Given the description of an element on the screen output the (x, y) to click on. 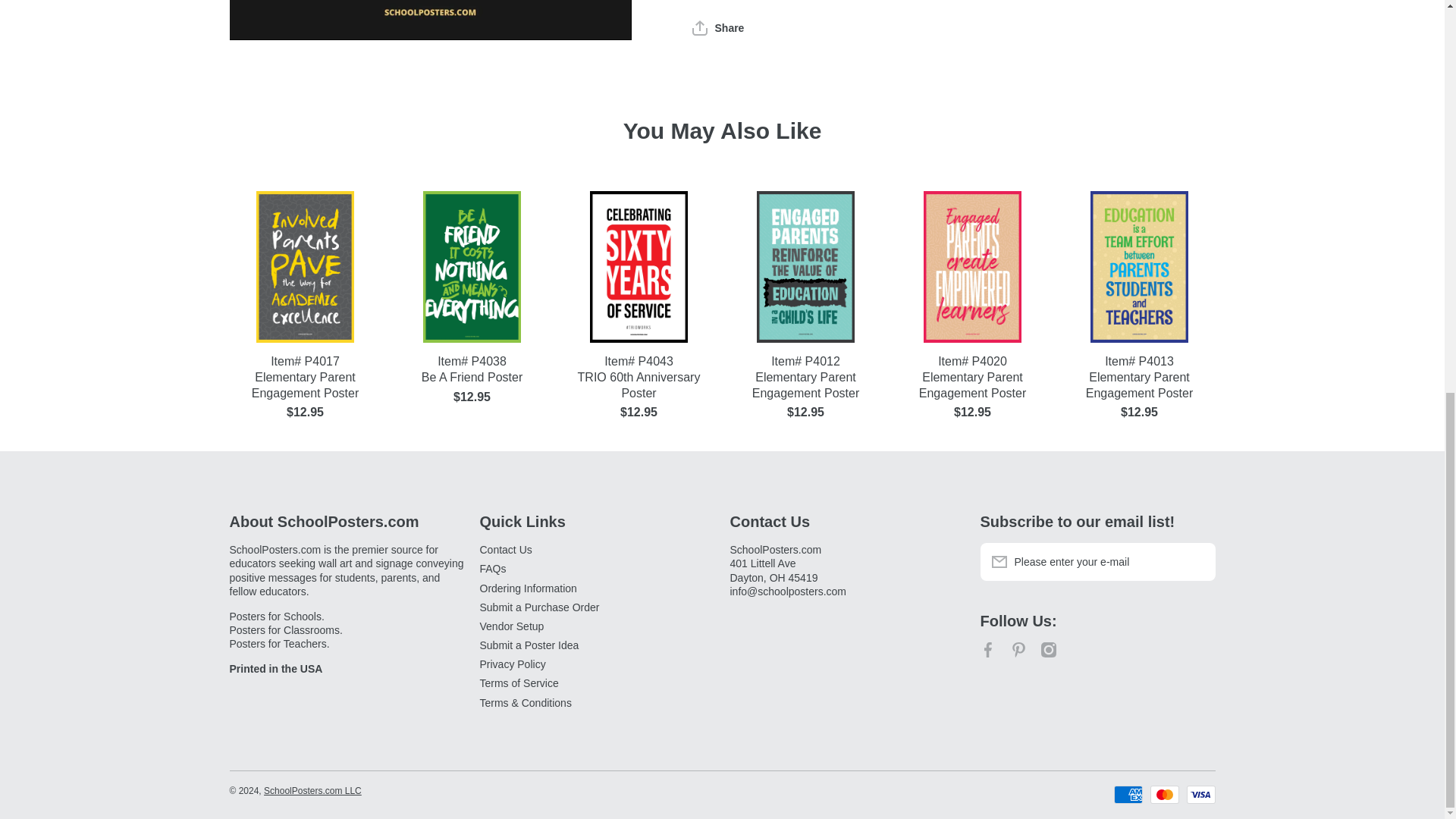
TRIO 60th Anniversary Poster (638, 386)
Elementary Parent Engagement Poster (304, 386)
Be A Friend Poster (472, 377)
